Given the description of an element on the screen output the (x, y) to click on. 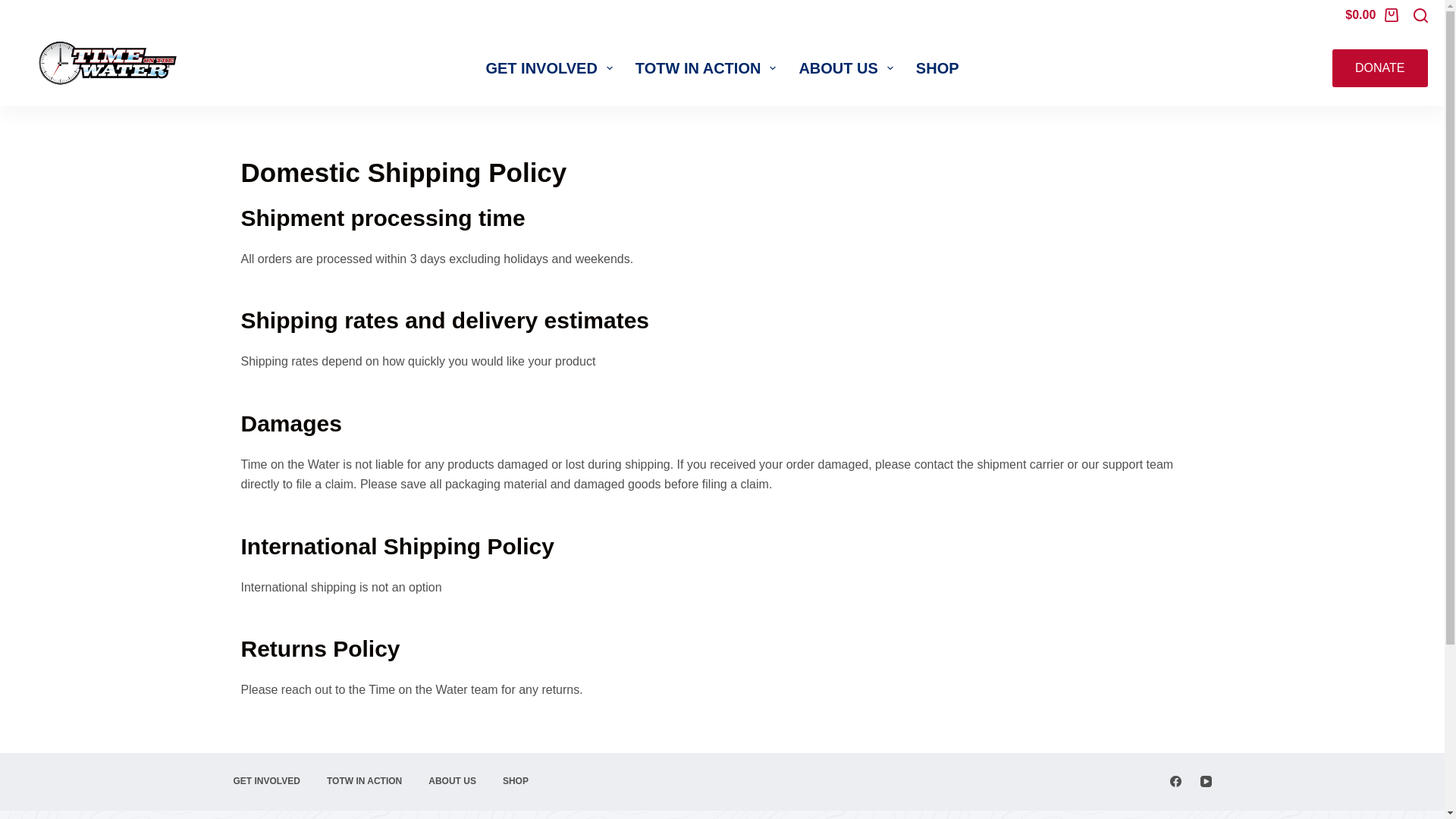
TOTW IN ACTION (705, 68)
GET INVOLVED (548, 68)
Skip to content (15, 7)
